Given the description of an element on the screen output the (x, y) to click on. 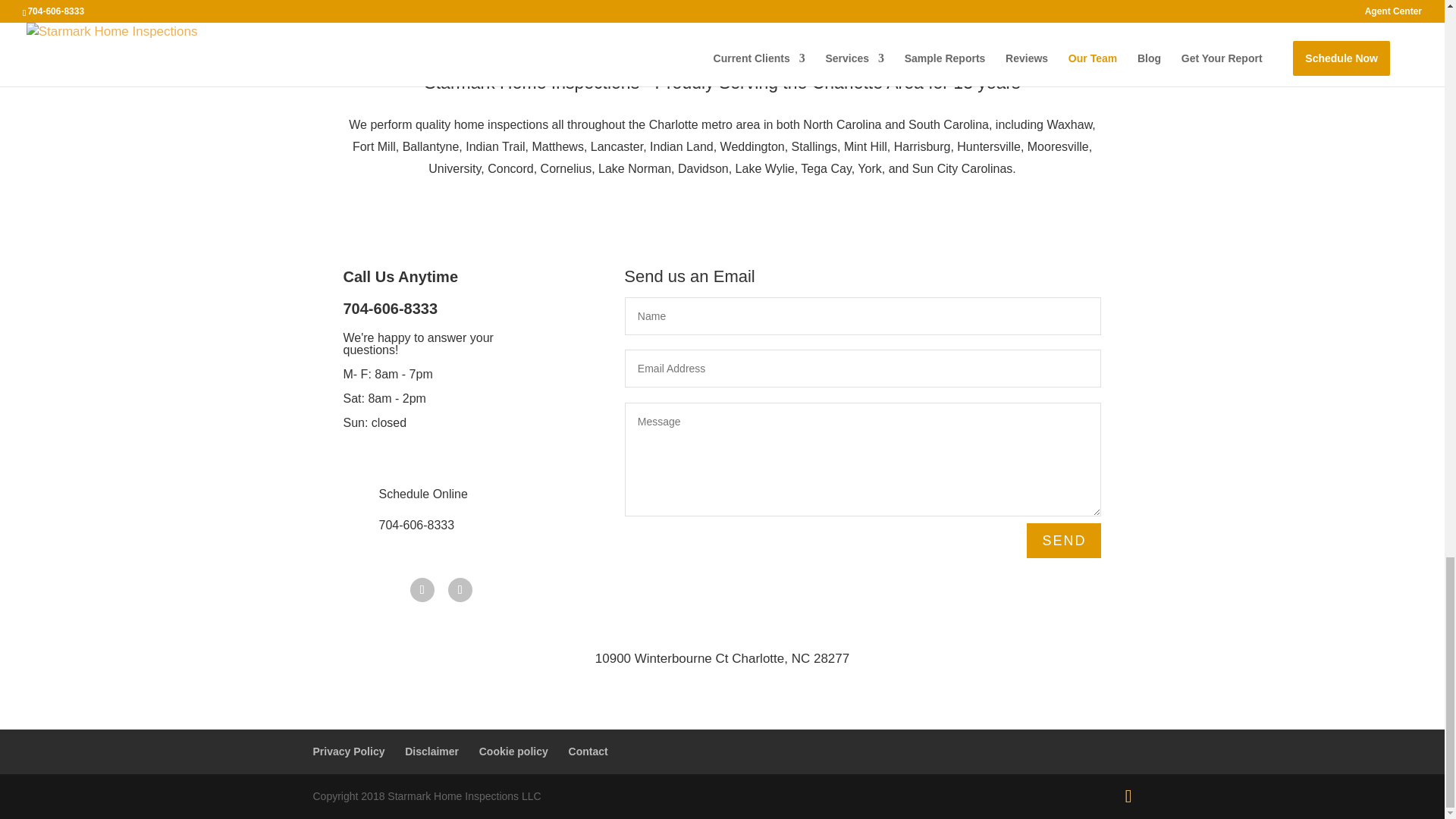
Privacy Policy (348, 751)
Follow on LinkedIn (459, 589)
Follow on Facebook (421, 589)
Disclaimer (431, 751)
Cookie policy (513, 751)
Contact (588, 751)
SEND (1063, 540)
